Given the description of an element on the screen output the (x, y) to click on. 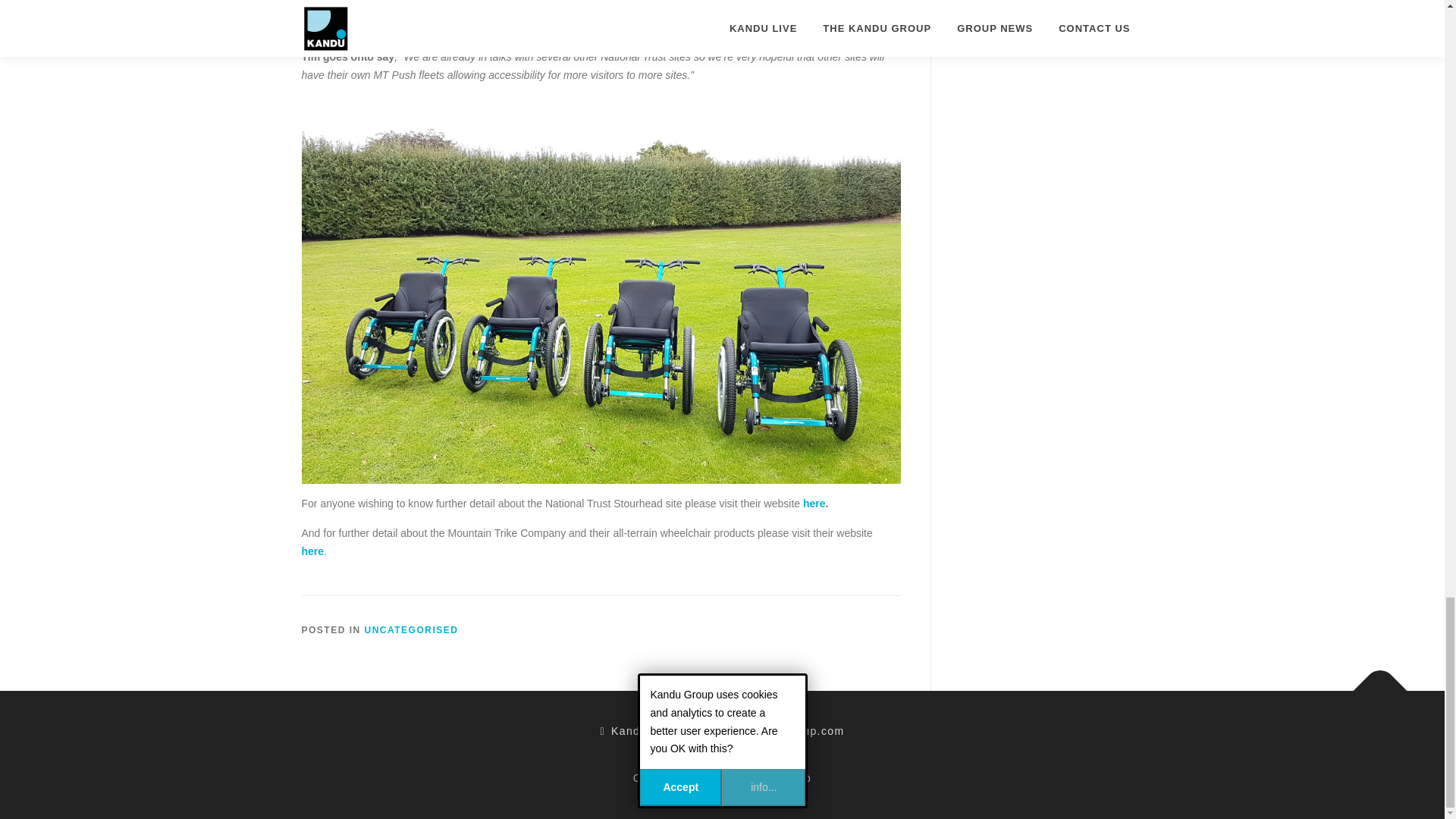
Find us on Facebook (640, 730)
UNCATEGORISED (411, 629)
Send us an email (775, 730)
here (814, 503)
here (312, 551)
Back To Top (1372, 682)
